Given the description of an element on the screen output the (x, y) to click on. 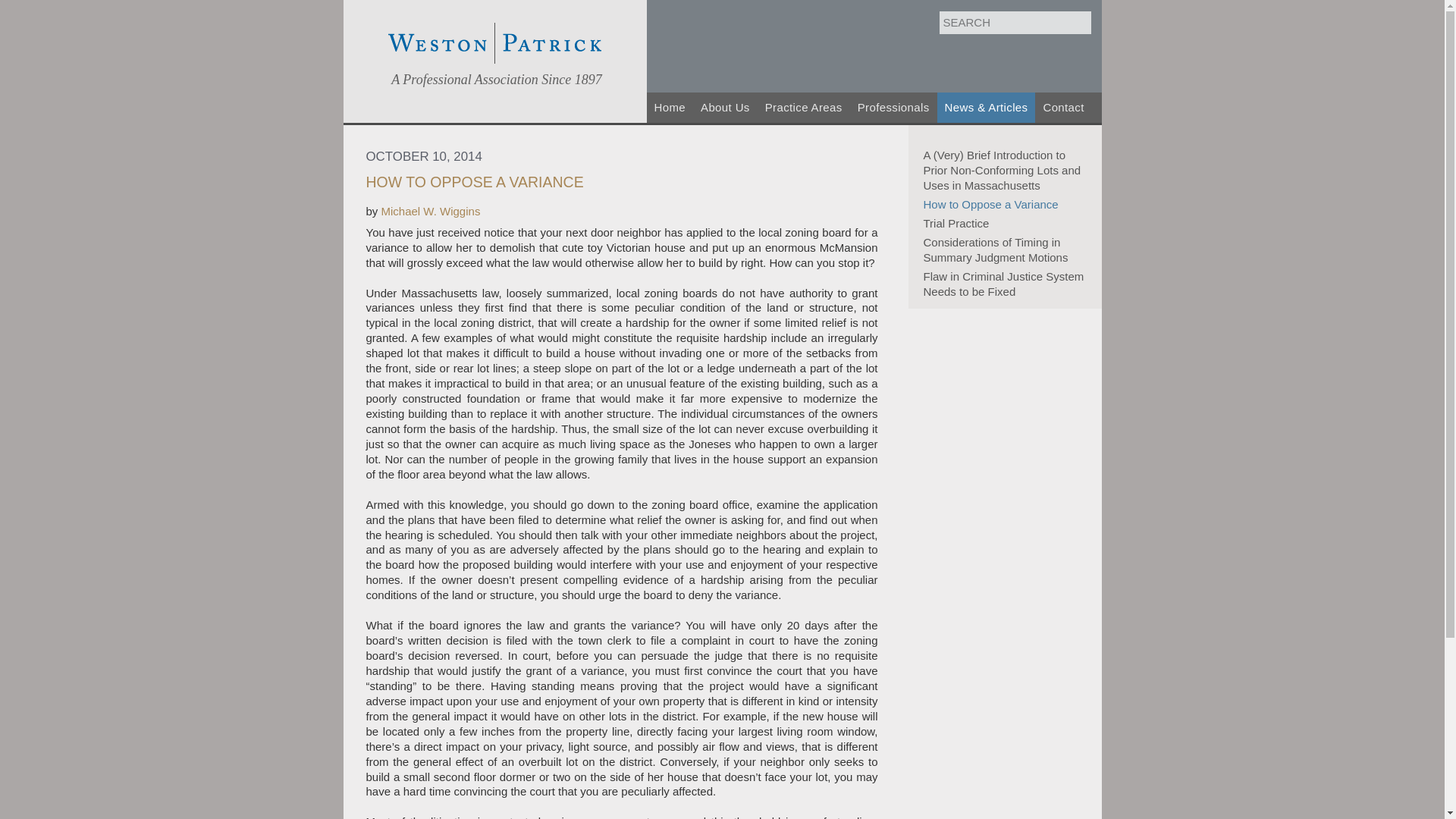
Trial Practice (1006, 223)
Flaw in Criminal Justice System Needs to be Fixed (1006, 284)
Contact (1062, 107)
About Us (725, 107)
Considerations of Timing in Summary Judgment Motions (1006, 250)
Home (669, 107)
Michael W. Wiggins (430, 210)
Professionals (893, 107)
Practice Areas (803, 107)
How to Oppose a Variance (1006, 204)
